Given the description of an element on the screen output the (x, y) to click on. 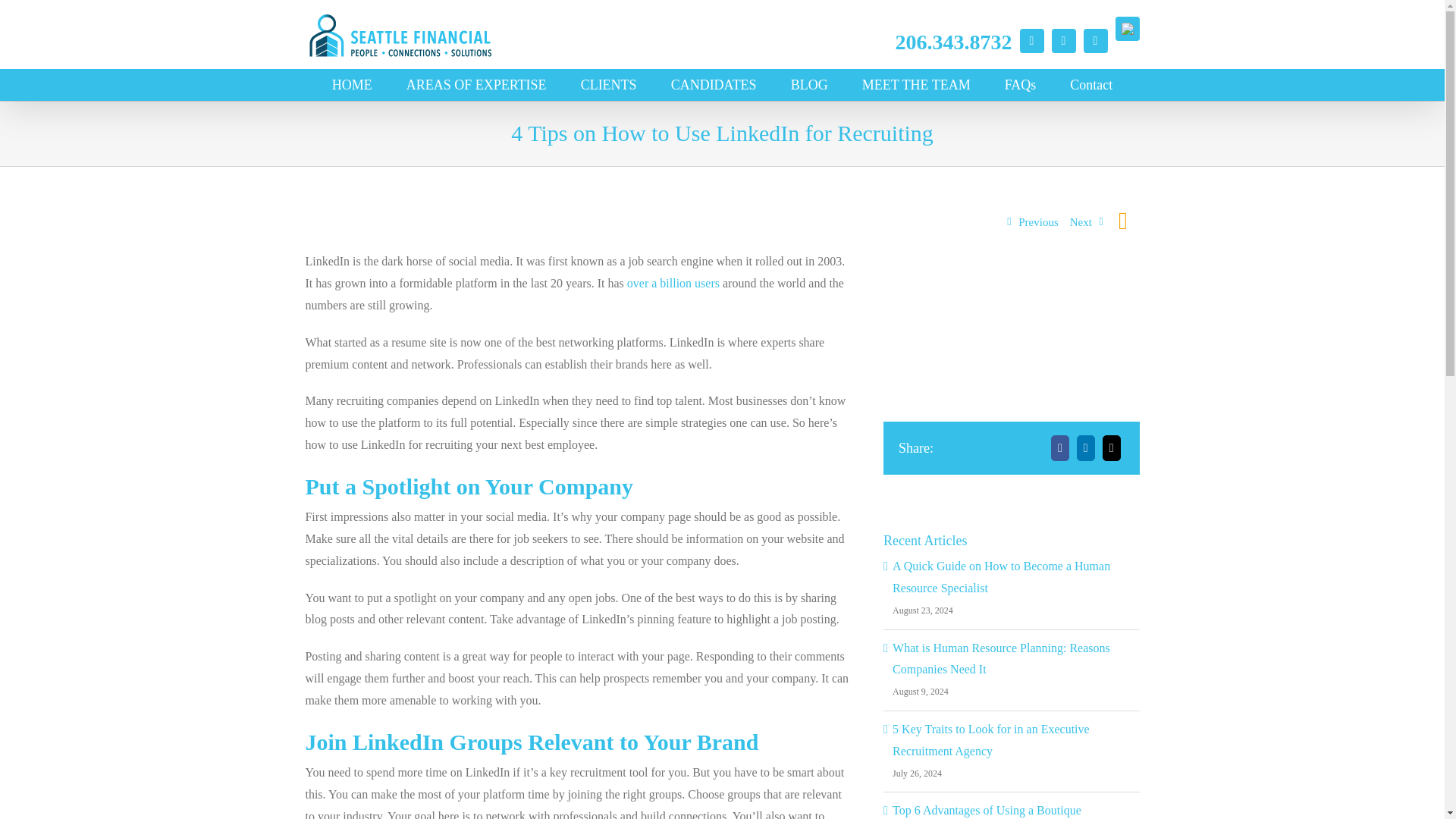
Instagram (1094, 40)
MEET THE TEAM (916, 84)
CLIENTS (608, 84)
AREAS OF EXPERTISE (476, 84)
Facebook (1031, 40)
206.343.8732 (953, 42)
Next (1086, 222)
Contact (1091, 84)
FAQs (1020, 84)
BLOG (809, 84)
